Given the description of an element on the screen output the (x, y) to click on. 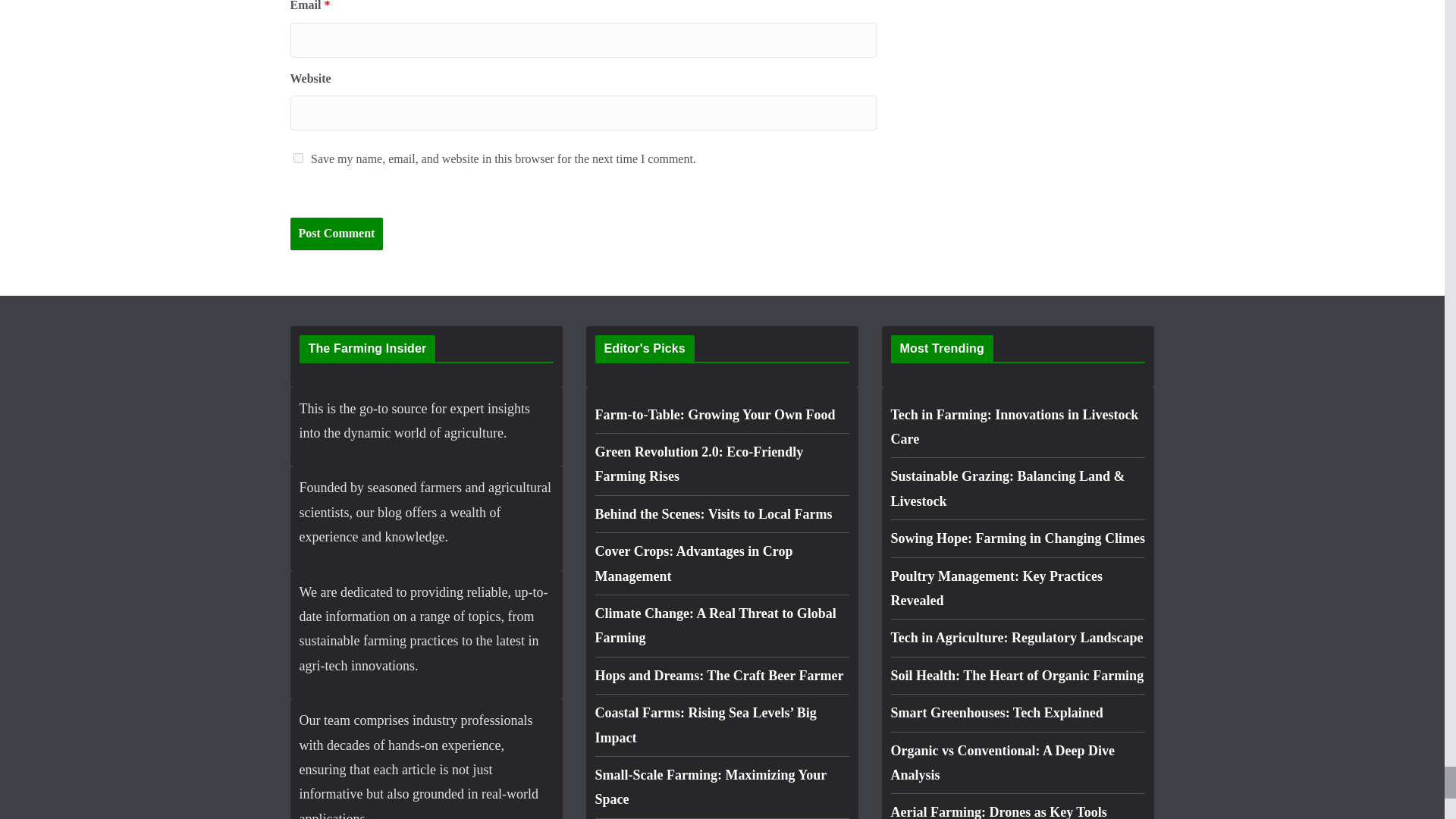
yes (297, 157)
Post Comment (335, 233)
